Given the description of an element on the screen output the (x, y) to click on. 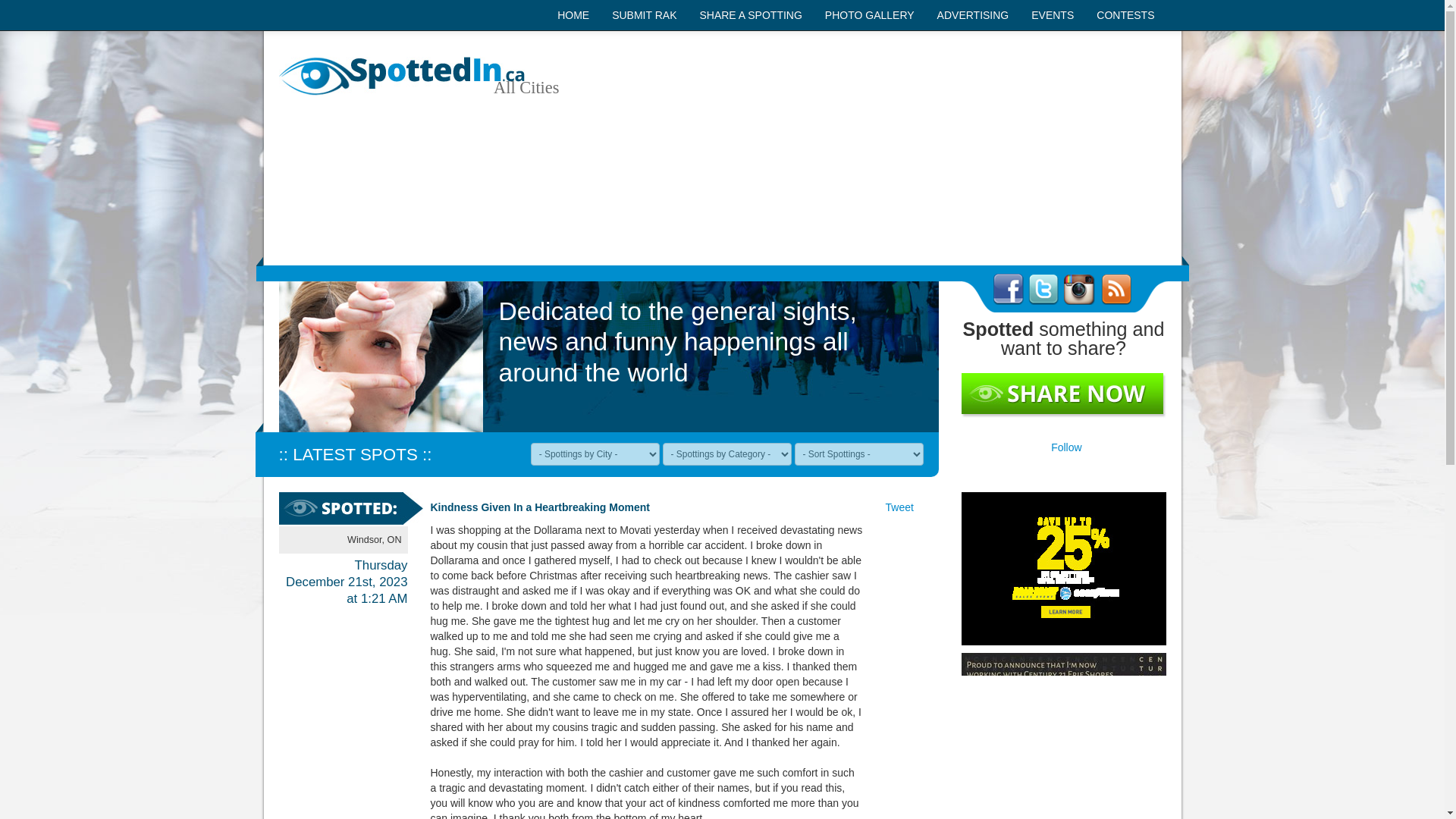
Follow (1066, 447)
SHARE A SPOTTING (749, 15)
EVENTS (1052, 15)
HOME (572, 15)
Share Now! (1063, 395)
ADVERTISING (973, 15)
PHOTO GALLERY (869, 15)
SUBMIT RAK (643, 15)
Advertisement (874, 147)
Tweet (899, 507)
